Given the description of an element on the screen output the (x, y) to click on. 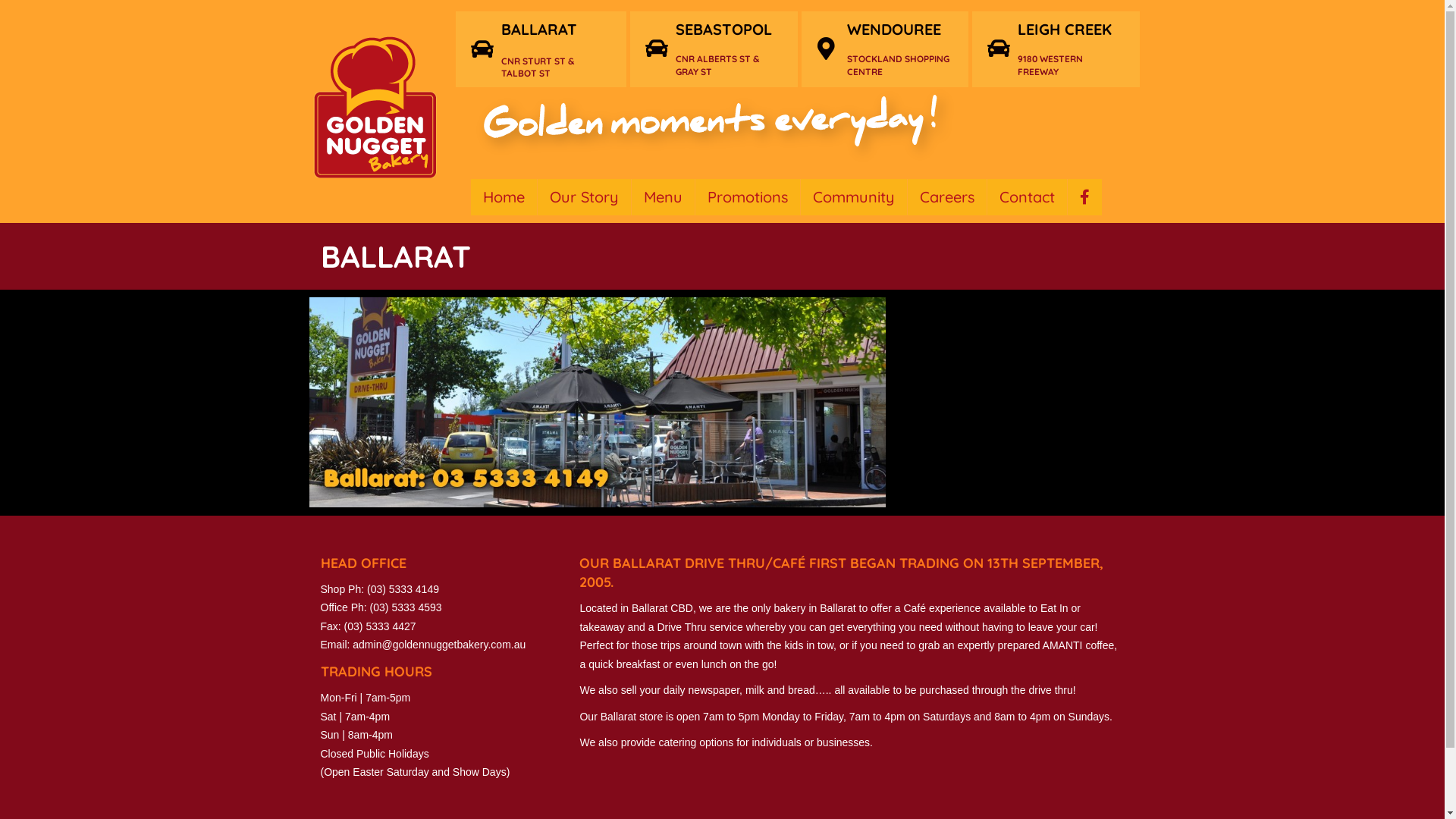
Menu Element type: text (661, 196)
Contact Element type: text (1026, 196)
Community Element type: text (853, 196)
Home Element type: text (503, 196)
Careers Element type: text (945, 196)
LEIGH CREEK

9180 WESTERN FREEWAY Element type: text (1070, 48)
Our Story Element type: text (583, 196)
SEBASTOPOL

CNR ALBERTS ST & GRAY ST Element type: text (728, 48)
BALLARAT

CNR STURT ST & TALBOT ST Element type: text (555, 49)
Golden Moments Element type: hover (711, 128)
Promotions Element type: text (746, 196)
B.jpg 960x350 Q90 Crop Subsampling 2 Upscale Element type: hover (597, 402)
Goldennugget Logo Element type: hover (374, 107)
WENDOUREE

STOCKLAND SHOPPING CENTRE Element type: text (899, 48)
